Given the description of an element on the screen output the (x, y) to click on. 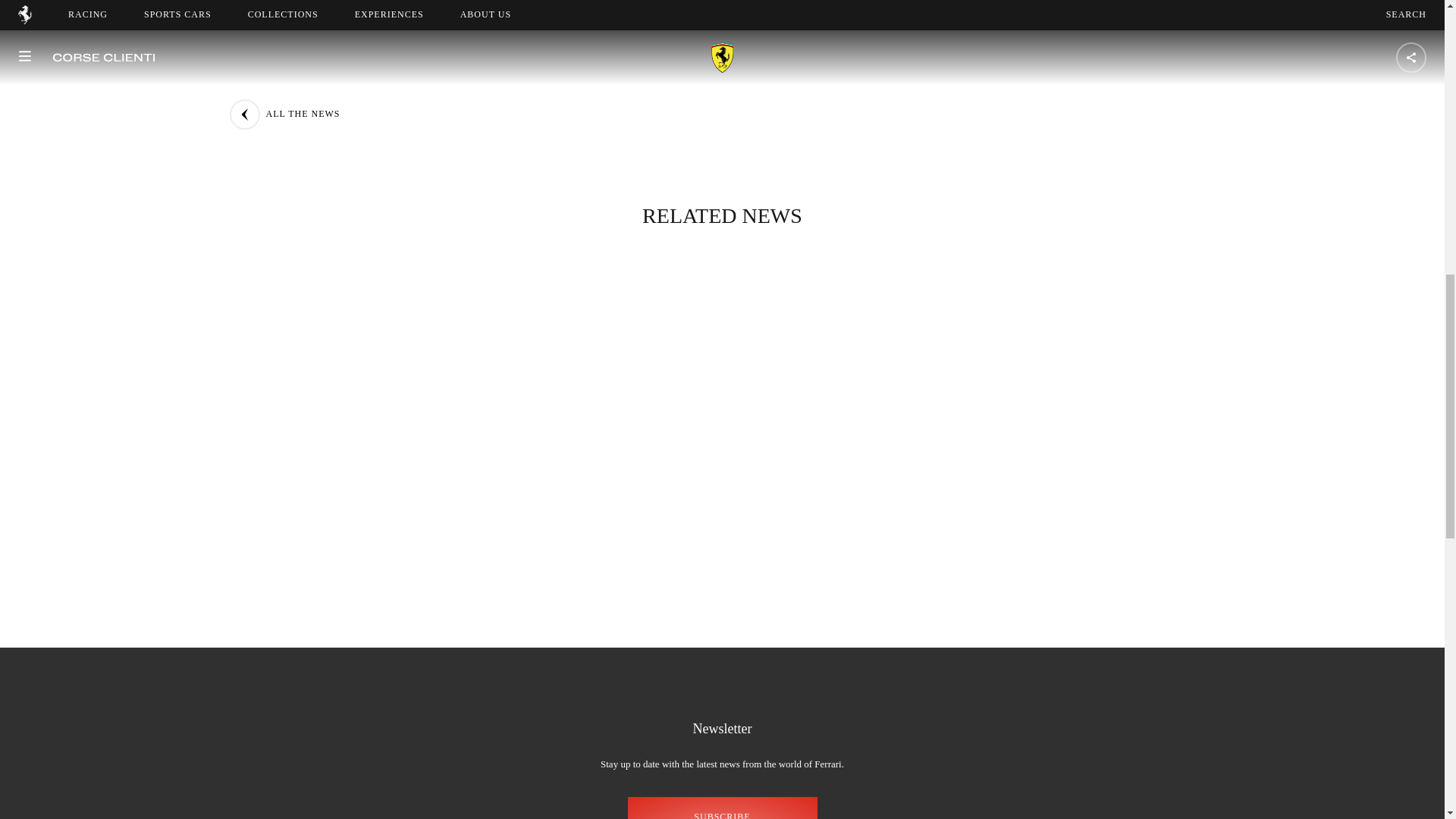
SUBSCRIBE (721, 807)
